Given the description of an element on the screen output the (x, y) to click on. 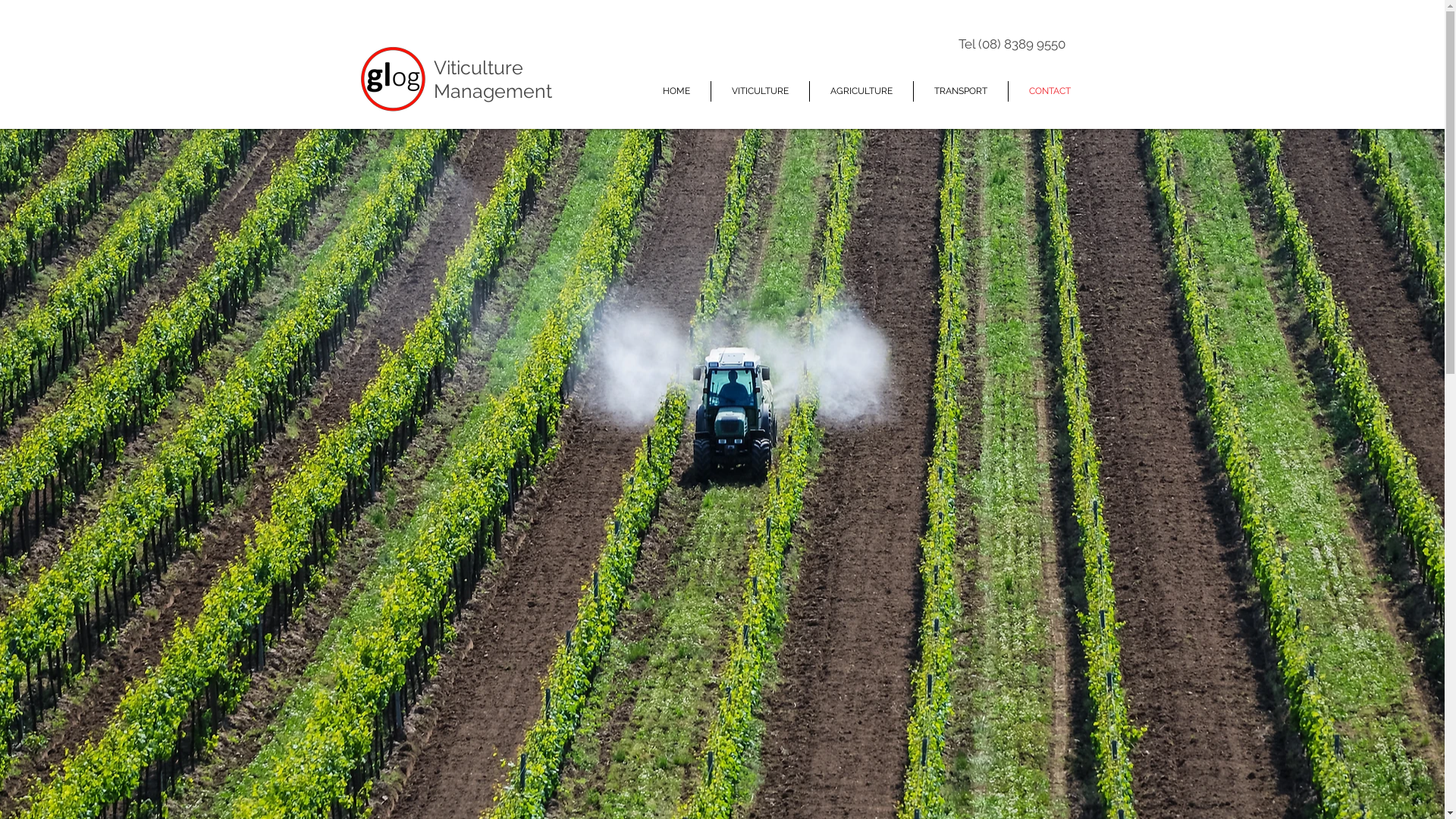
AGRICULTURE Element type: text (861, 91)
VITICULTURE Element type: text (760, 91)
CONTACT Element type: text (1049, 91)
HOME Element type: text (675, 91)
TRANSPORT Element type: text (960, 91)
